Given the description of an element on the screen output the (x, y) to click on. 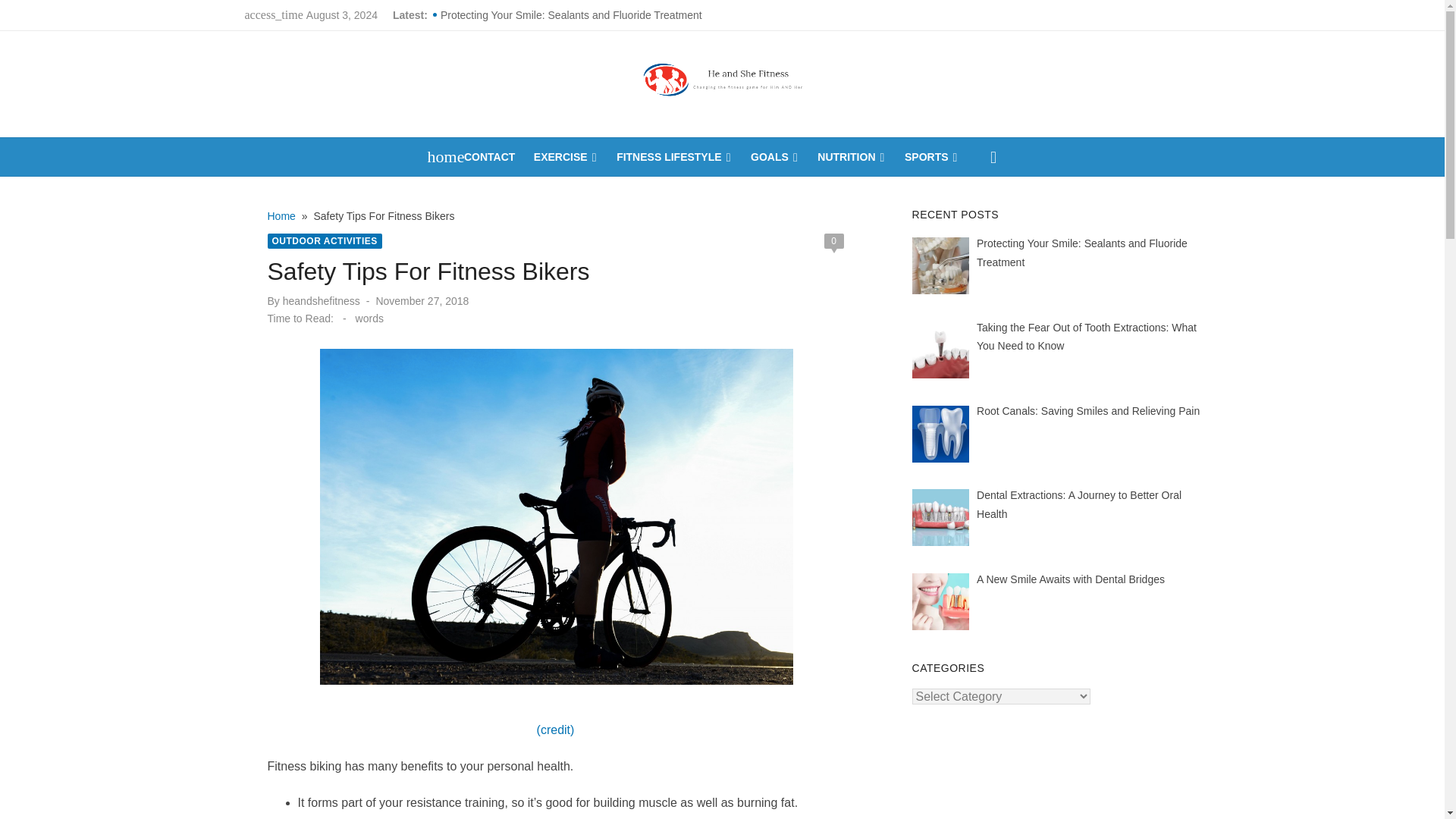
home (438, 156)
EXERCISE (566, 157)
Protecting Your Smile: Sealants and Fluoride Treatment (599, 15)
CONTACT (489, 157)
FITNESS LIFESTYLE (673, 157)
